Given the description of an element on the screen output the (x, y) to click on. 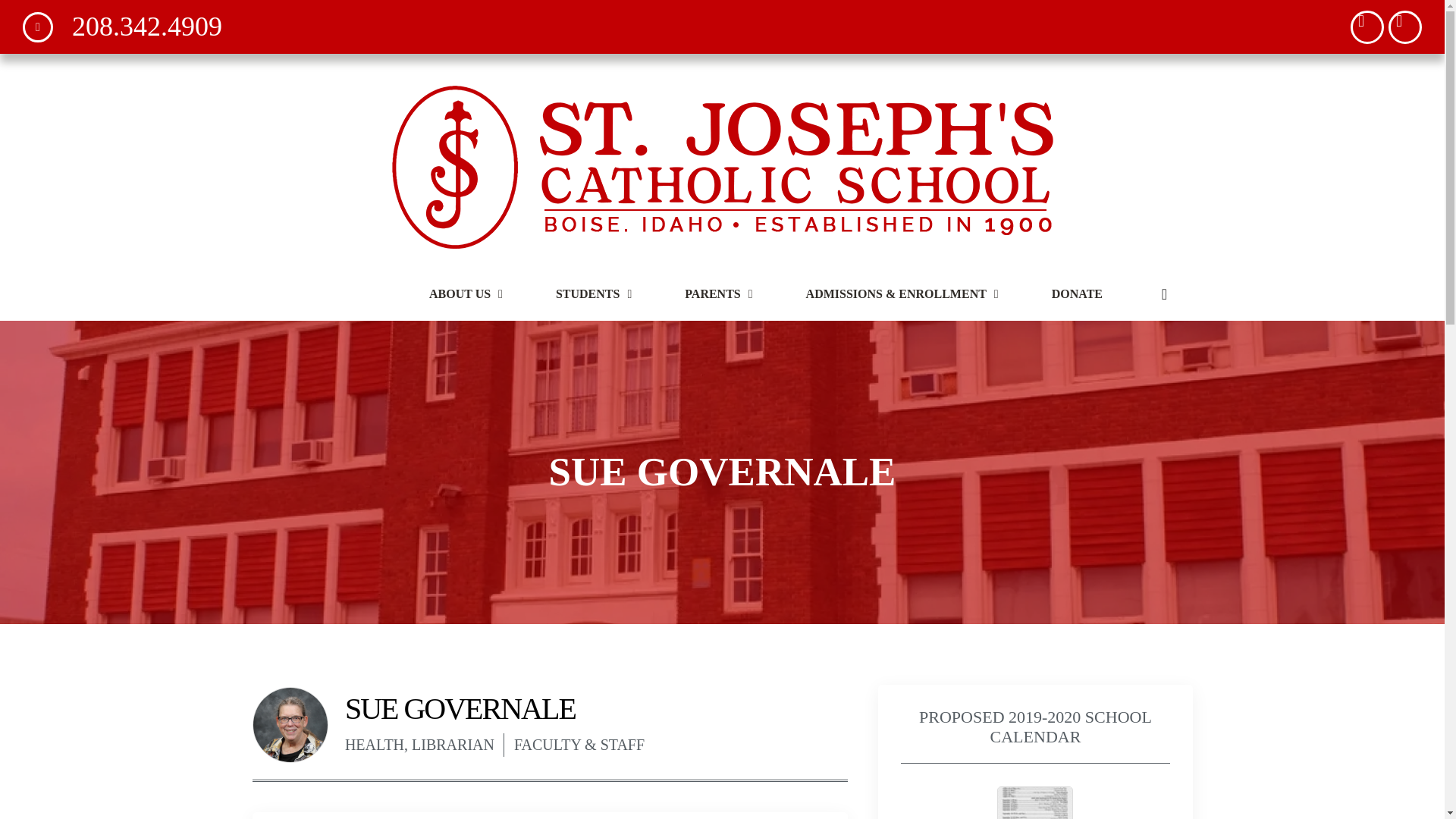
STUDENTS (593, 294)
ABOUT US (465, 294)
DONATE (1076, 294)
208.342.4909 (122, 27)
PARENTS (718, 294)
